Given the description of an element on the screen output the (x, y) to click on. 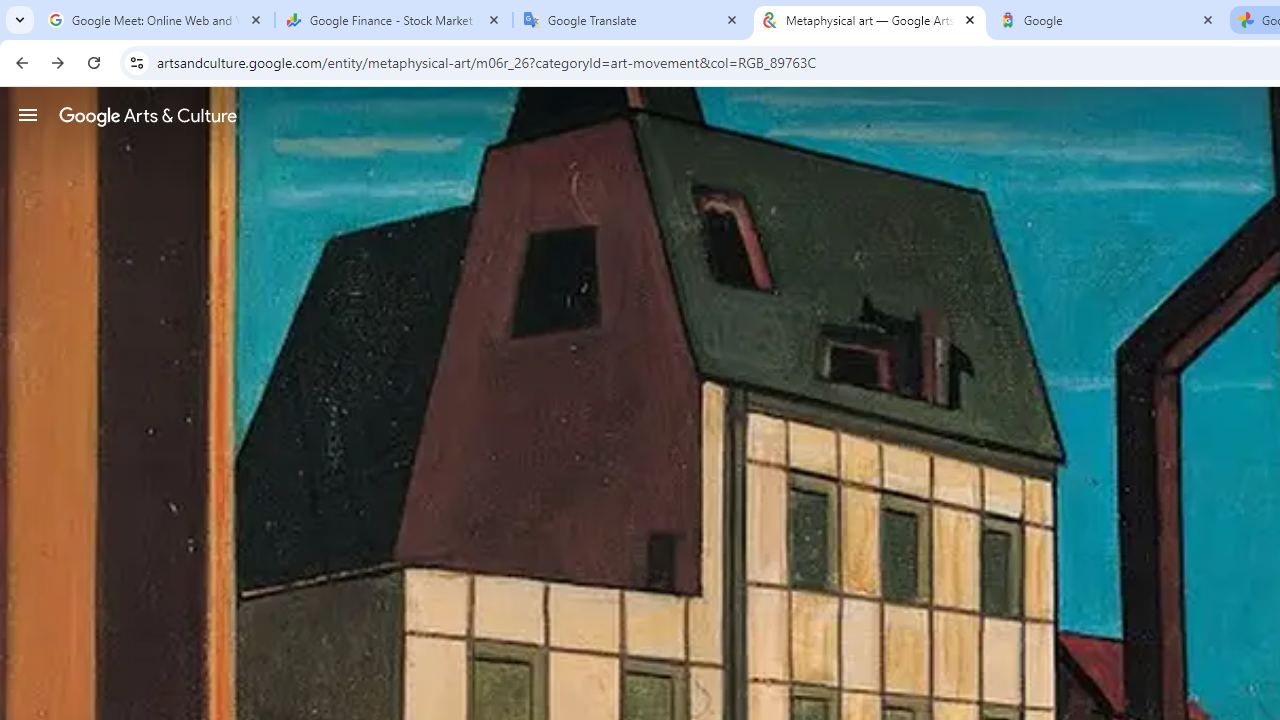
Google Arts & Culture (148, 115)
Google (1108, 20)
Google Translate (632, 20)
Menu (27, 114)
